Given the description of an element on the screen output the (x, y) to click on. 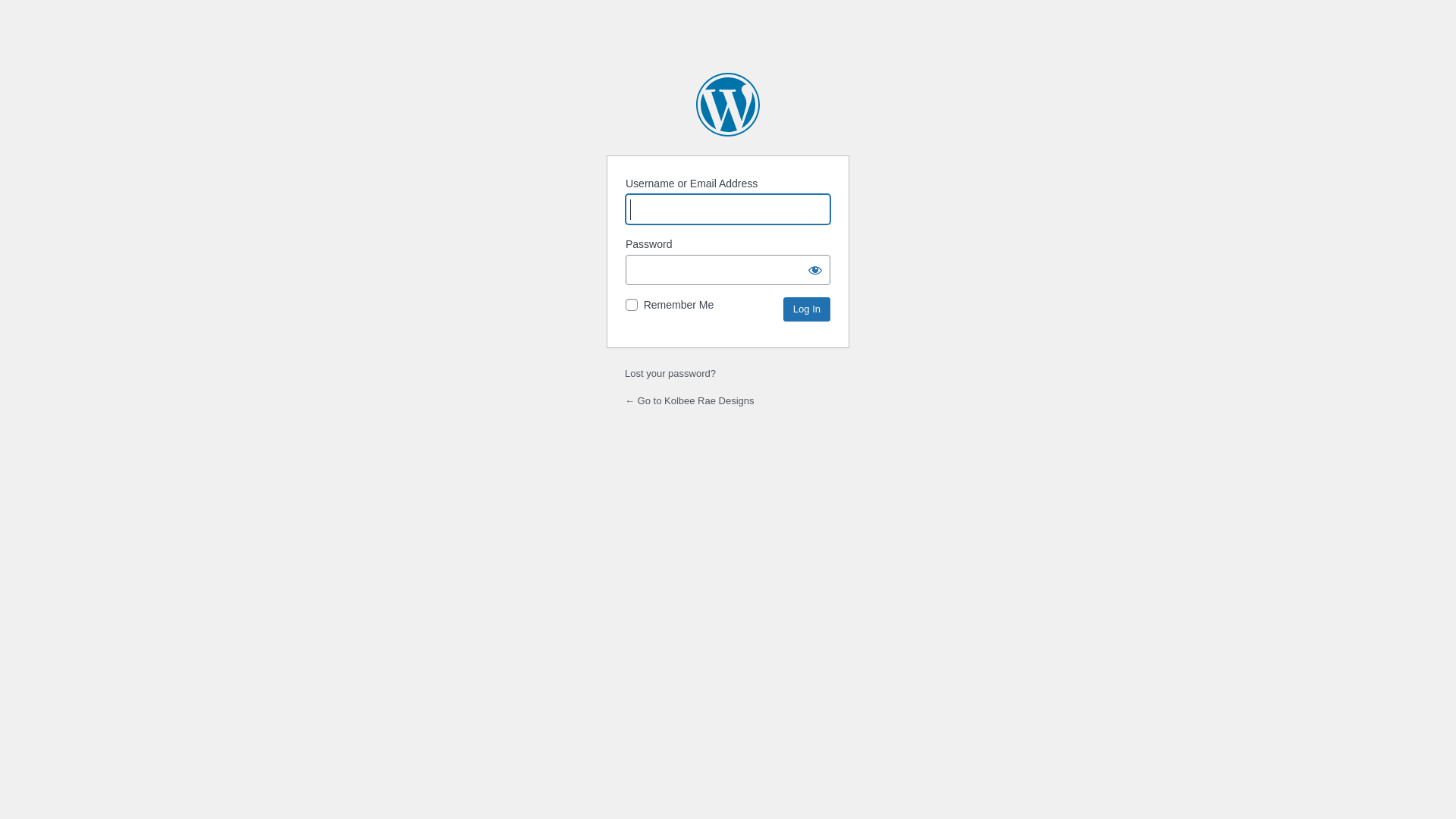
Powered by WordPress Element type: text (727, 104)
Log In Element type: text (806, 309)
Lost your password? Element type: text (669, 373)
